Given the description of an element on the screen output the (x, y) to click on. 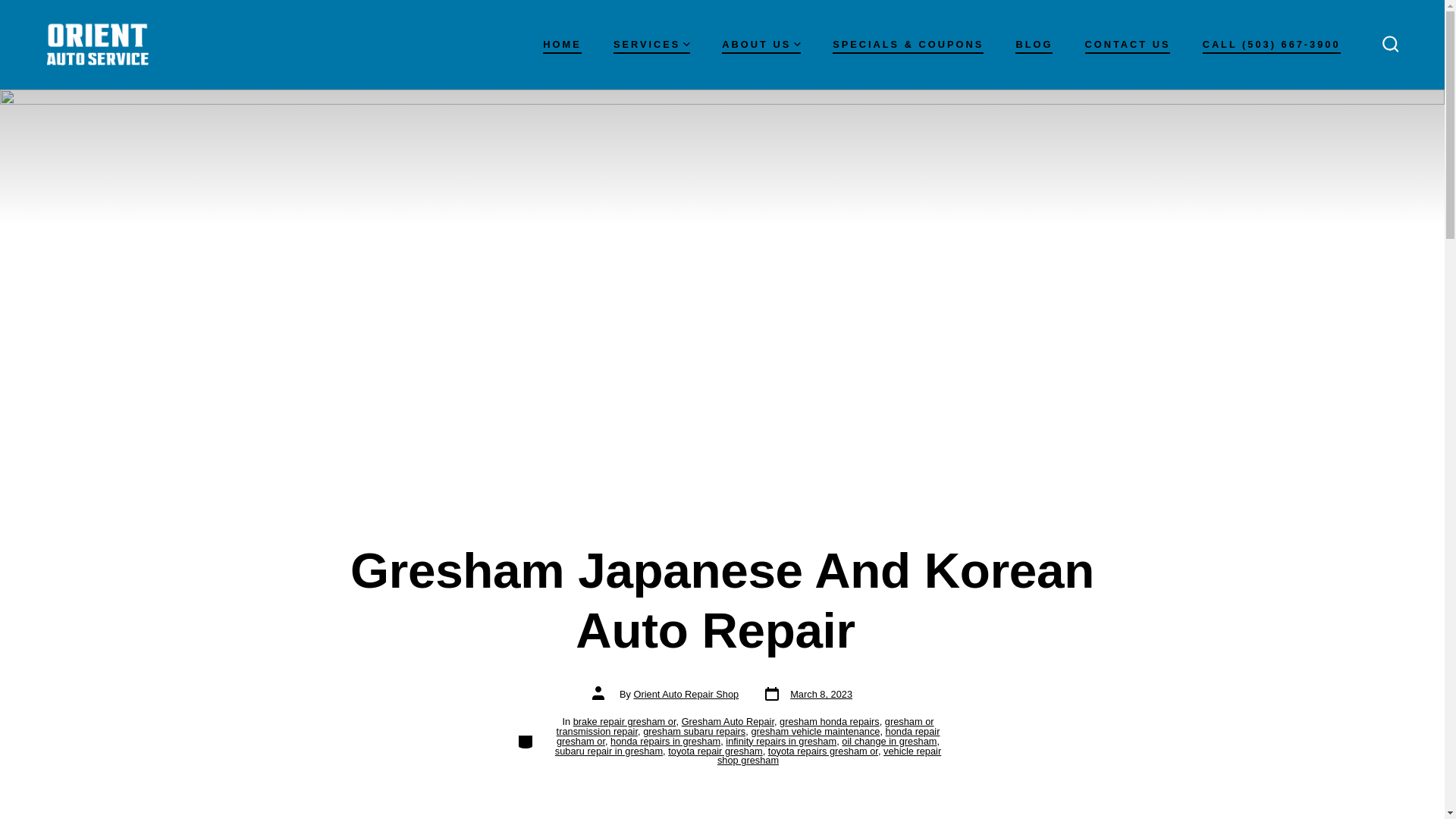
toyota repairs gresham or (822, 750)
oil change in gresham (888, 740)
SERVICES (651, 45)
Gresham Auto Repair (727, 721)
CONTACT US (1127, 45)
SEARCH TOGGLE (1390, 44)
vehicle repair shop gresham (828, 755)
BLOG (1033, 45)
infinity repairs in gresham (780, 740)
gresham honda repairs (828, 721)
ABOUT US (761, 45)
Orient Auto Repair Shop (685, 694)
honda repairs in gresham (665, 740)
gresham or transmission repair (745, 726)
honda repair gresham or (747, 735)
